Given the description of an element on the screen output the (x, y) to click on. 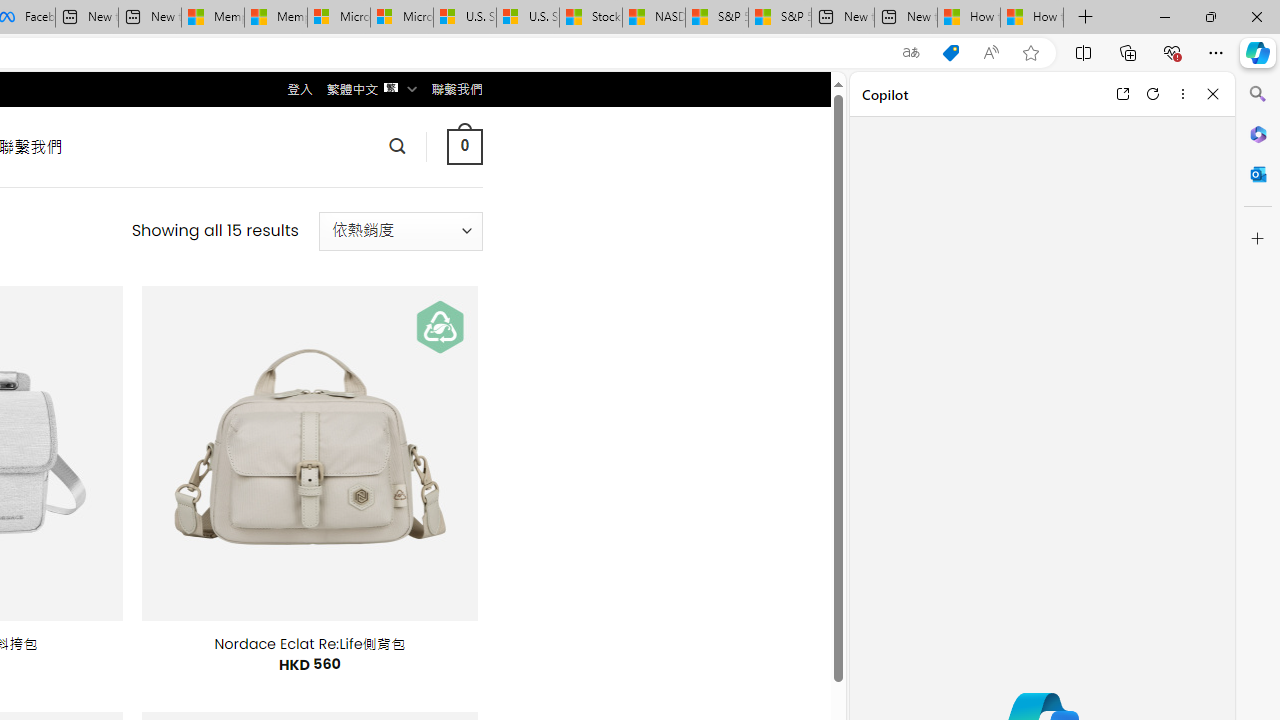
Open link in new tab (1122, 93)
How to Use a Monitor With Your Closed Laptop (1032, 17)
This site has coupons! Shopping in Microsoft Edge (950, 53)
Microsoft 365 (1258, 133)
